Given the description of an element on the screen output the (x, y) to click on. 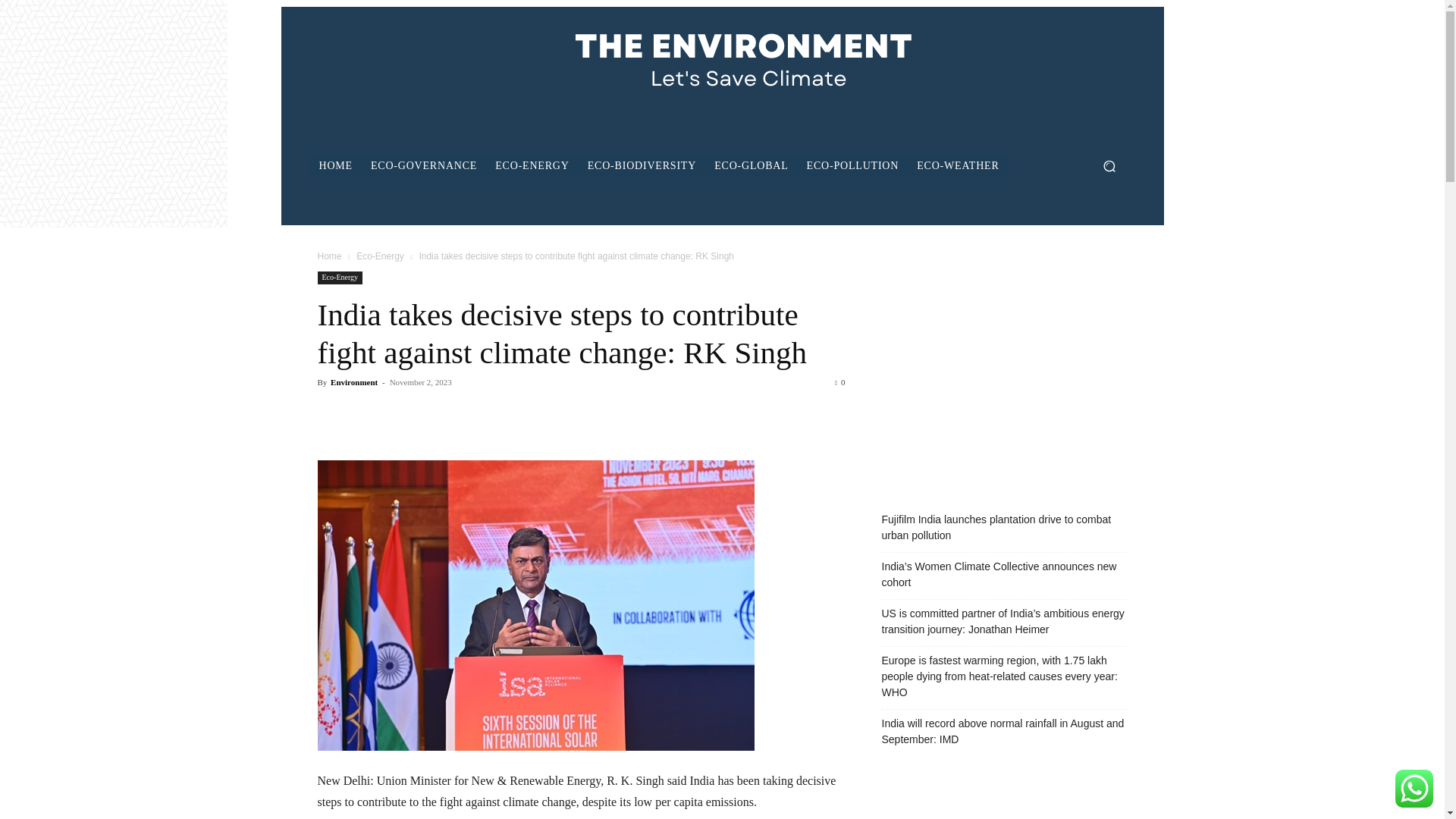
ECO-GOVERNANCE (423, 165)
Environment (353, 381)
ECO-GLOBAL (750, 165)
Home (328, 255)
ECO-ENERGY (532, 165)
ECO-POLLUTION (852, 165)
Solar Energy (535, 605)
Eco-Energy (339, 277)
0 (839, 381)
ECO-WEATHER (957, 165)
